Given the description of an element on the screen output the (x, y) to click on. 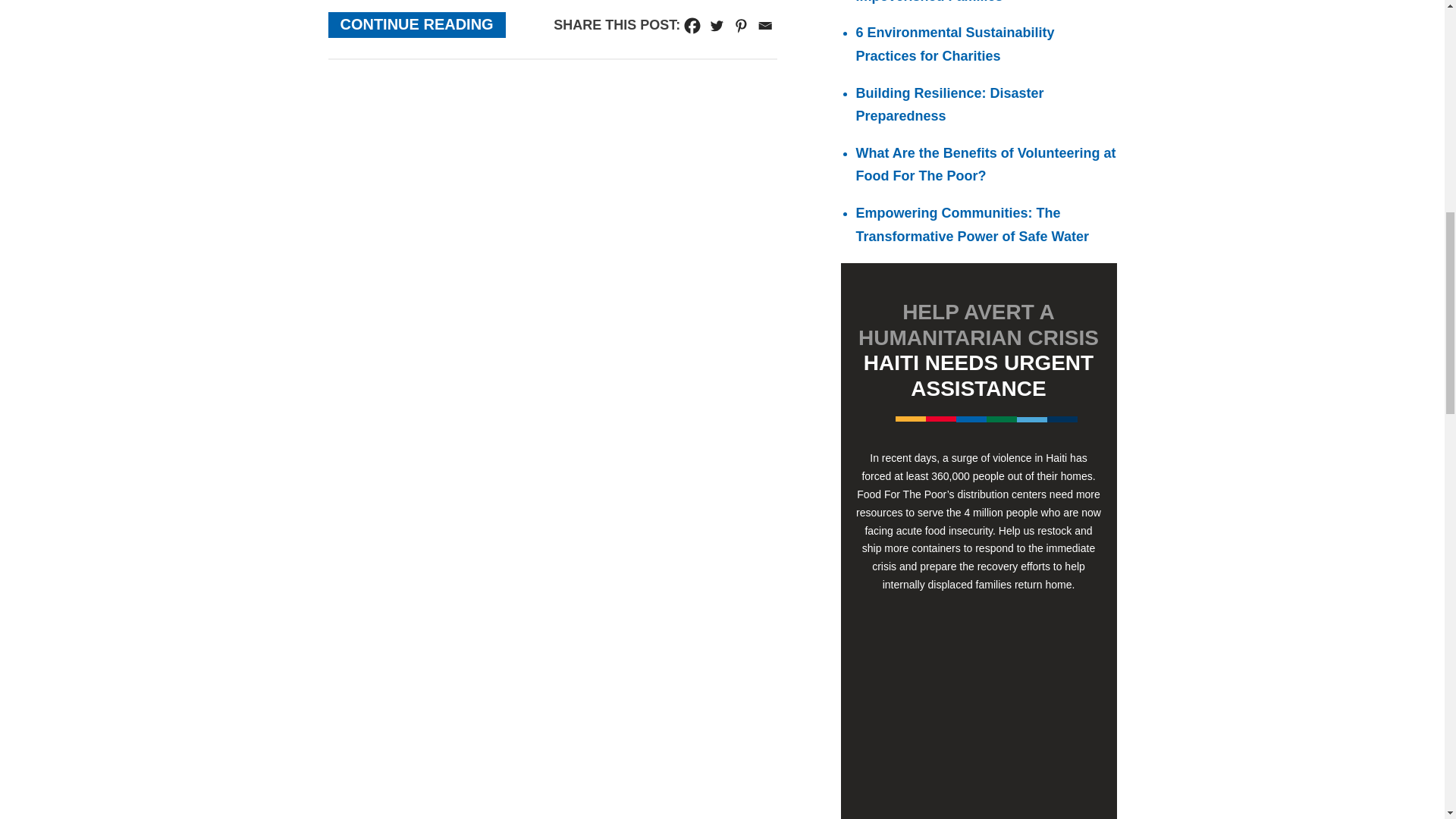
Facebook (692, 25)
Pinterest (740, 25)
Twitter (716, 25)
Email (765, 25)
